Given the description of an element on the screen output the (x, y) to click on. 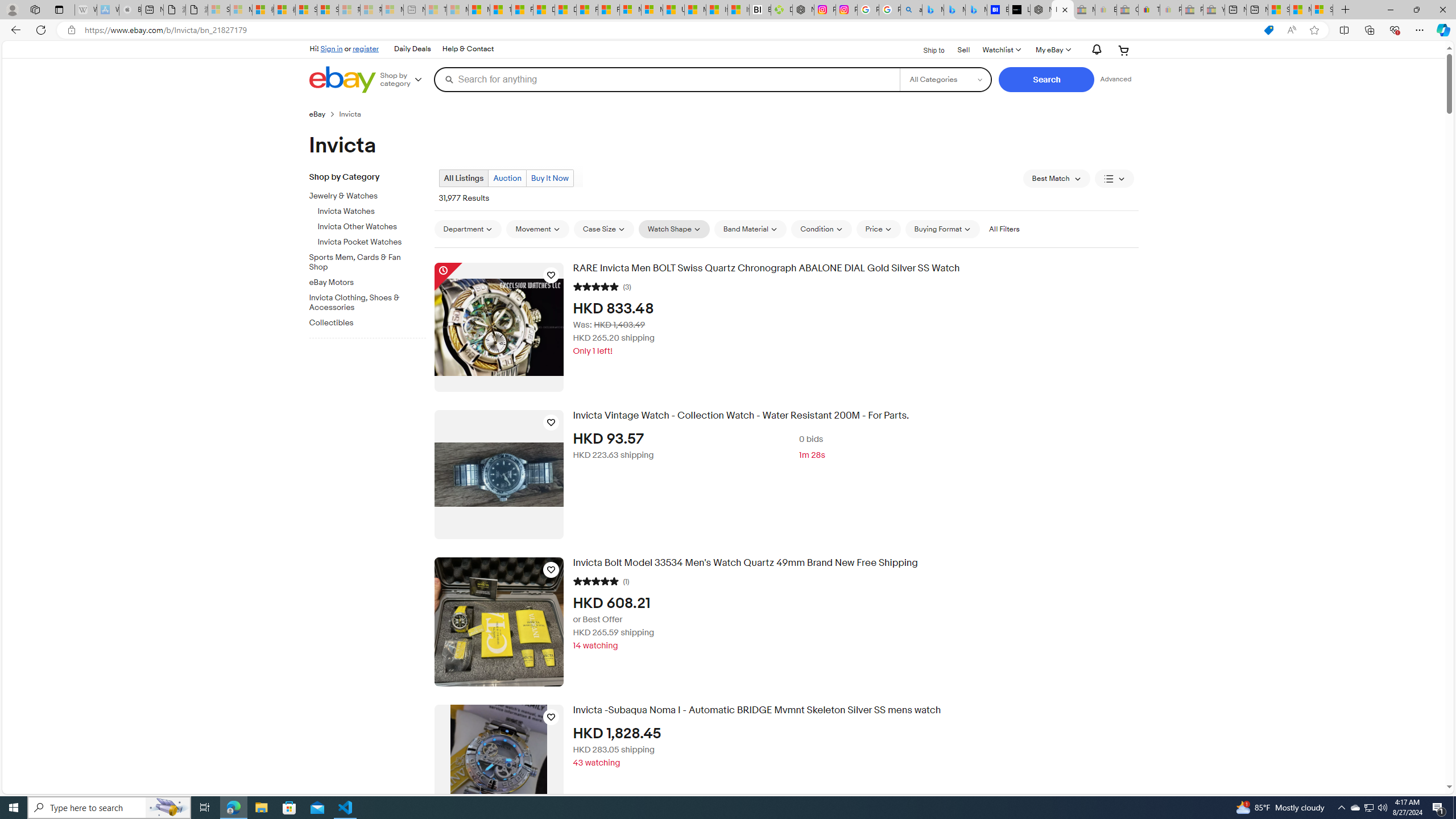
Sort: Best Match (1056, 178)
Advanced Search (1115, 78)
Invicta Pocket Watches (371, 240)
register (366, 48)
Collectibles (371, 320)
Drinking tea every day is proven to delay biological aging (565, 9)
All Filters (1004, 229)
eBay (323, 113)
Top Stories - MSN - Sleeping (435, 9)
Notifications (1093, 49)
My eBayExpand My eBay (1052, 49)
